Given the description of an element on the screen output the (x, y) to click on. 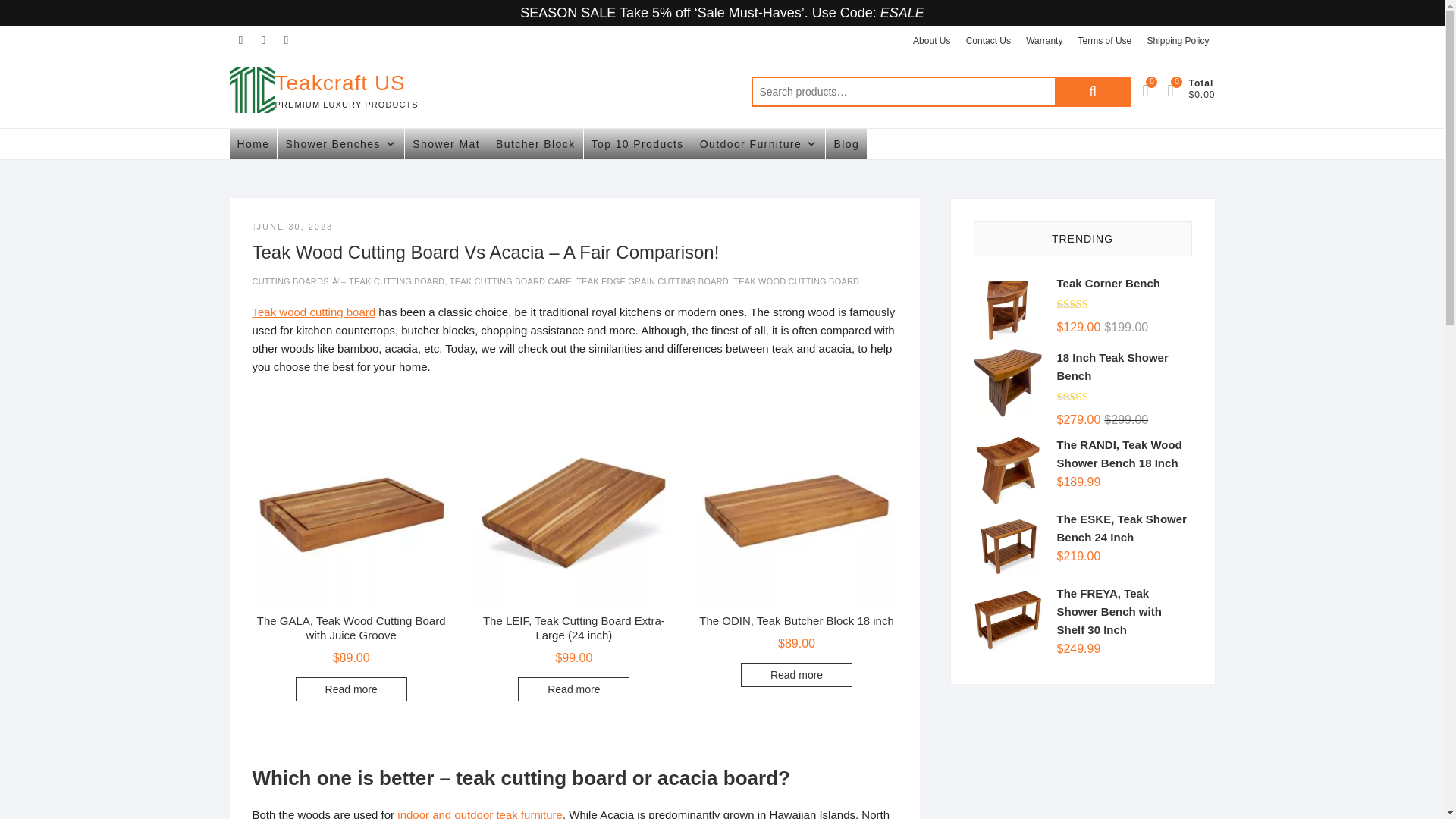
Outdoor Furniture (759, 143)
Shipping Policy (1177, 40)
11:33 am (292, 225)
Warranty (1044, 40)
Search (1092, 91)
Contact Us (987, 40)
Teakcraft US (346, 82)
Top 10 Products (637, 143)
Shower Mat (445, 143)
